Given the description of an element on the screen output the (x, y) to click on. 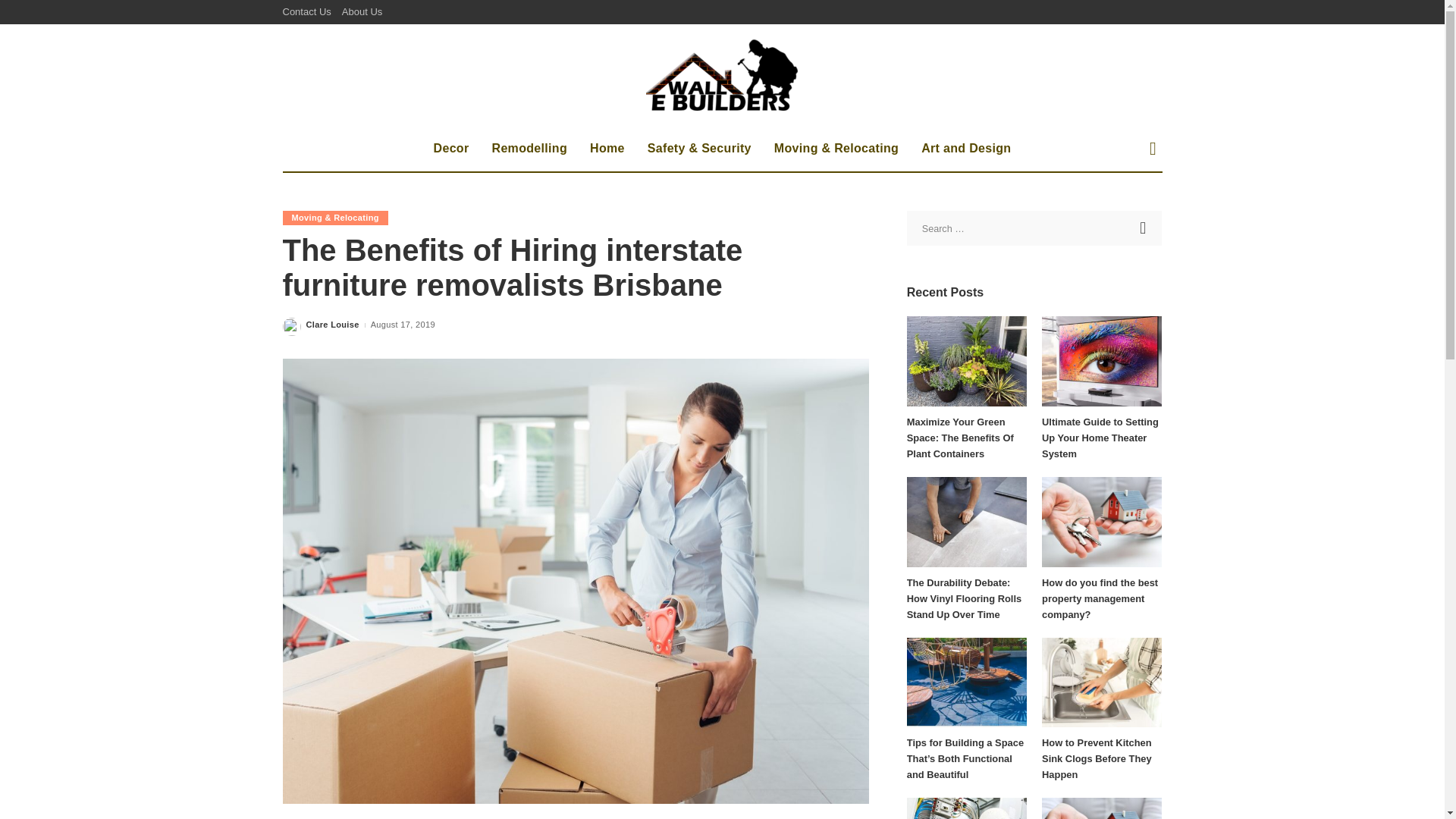
About Us (361, 11)
Wall-Ebuilders (721, 74)
Art and Design (966, 148)
Decor (451, 148)
Search (1143, 227)
Search (1143, 227)
Home (607, 148)
Search (1140, 201)
Clare Louise (332, 324)
Remodelling (529, 148)
Search (1143, 227)
Contact Us (309, 11)
